Given the description of an element on the screen output the (x, y) to click on. 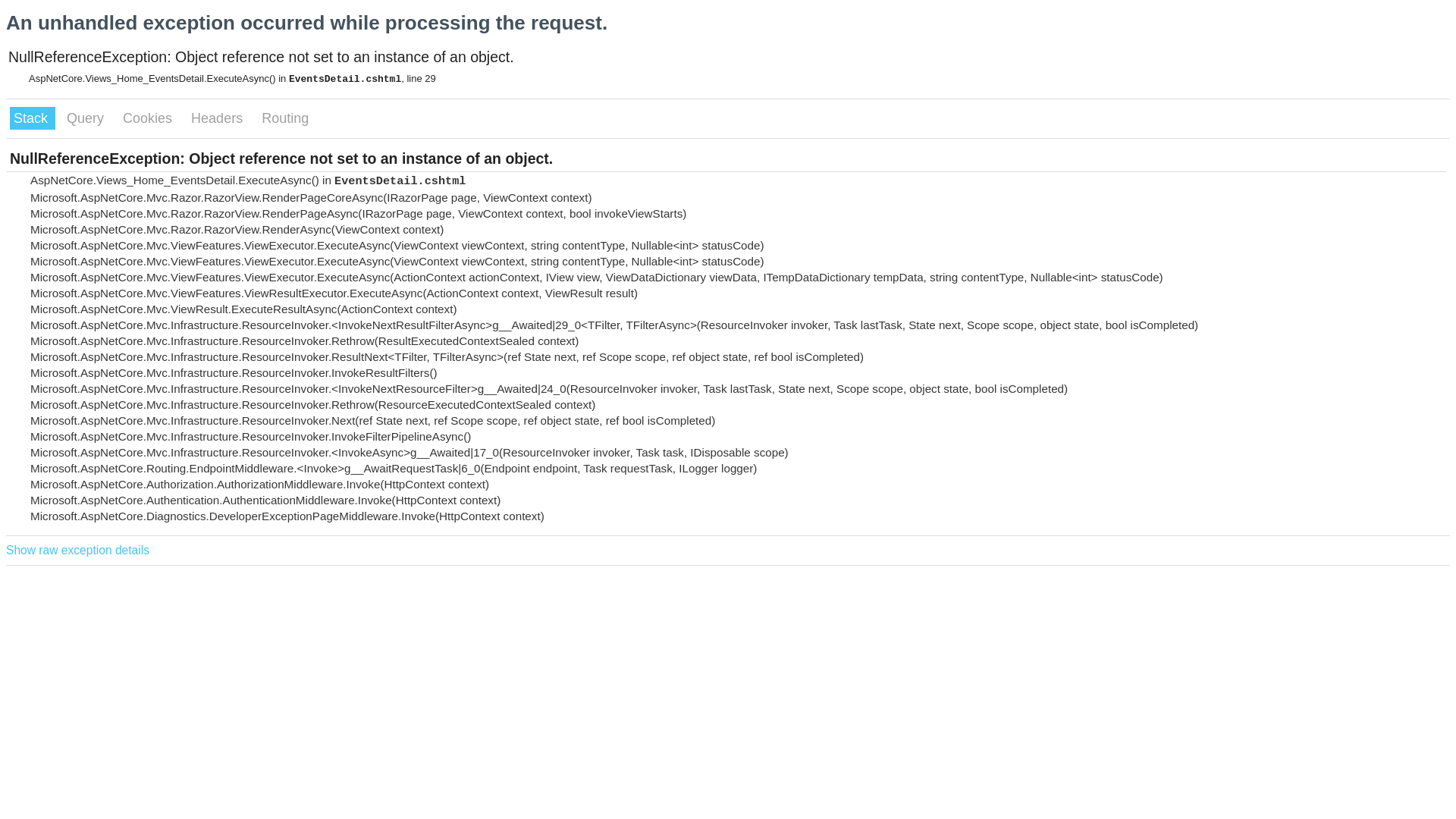
Show raw exception details Element type: text (77, 550)
